Given the description of an element on the screen output the (x, y) to click on. 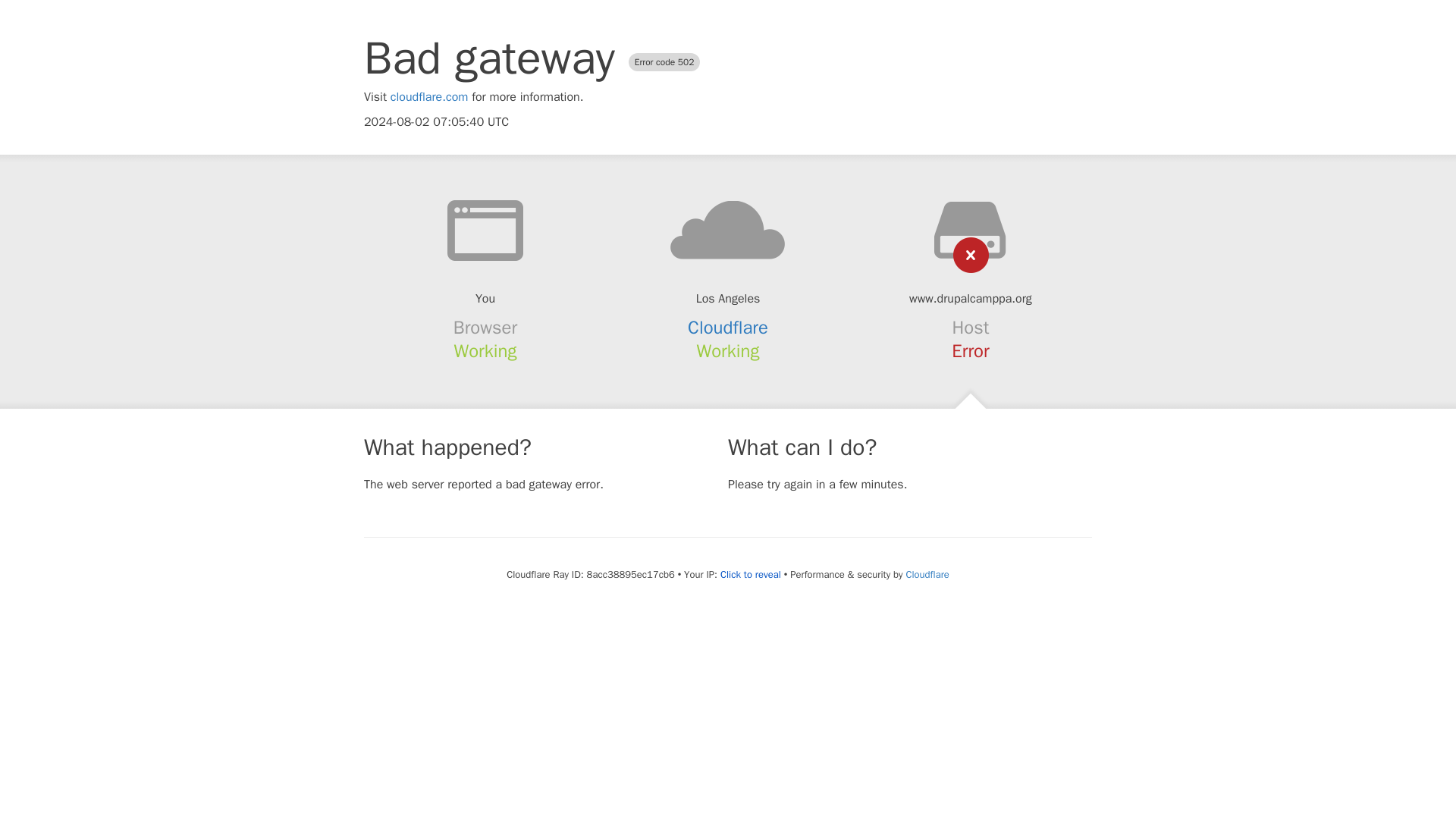
Cloudflare (927, 574)
cloudflare.com (429, 96)
Click to reveal (750, 574)
Cloudflare (727, 327)
